Given the description of an element on the screen output the (x, y) to click on. 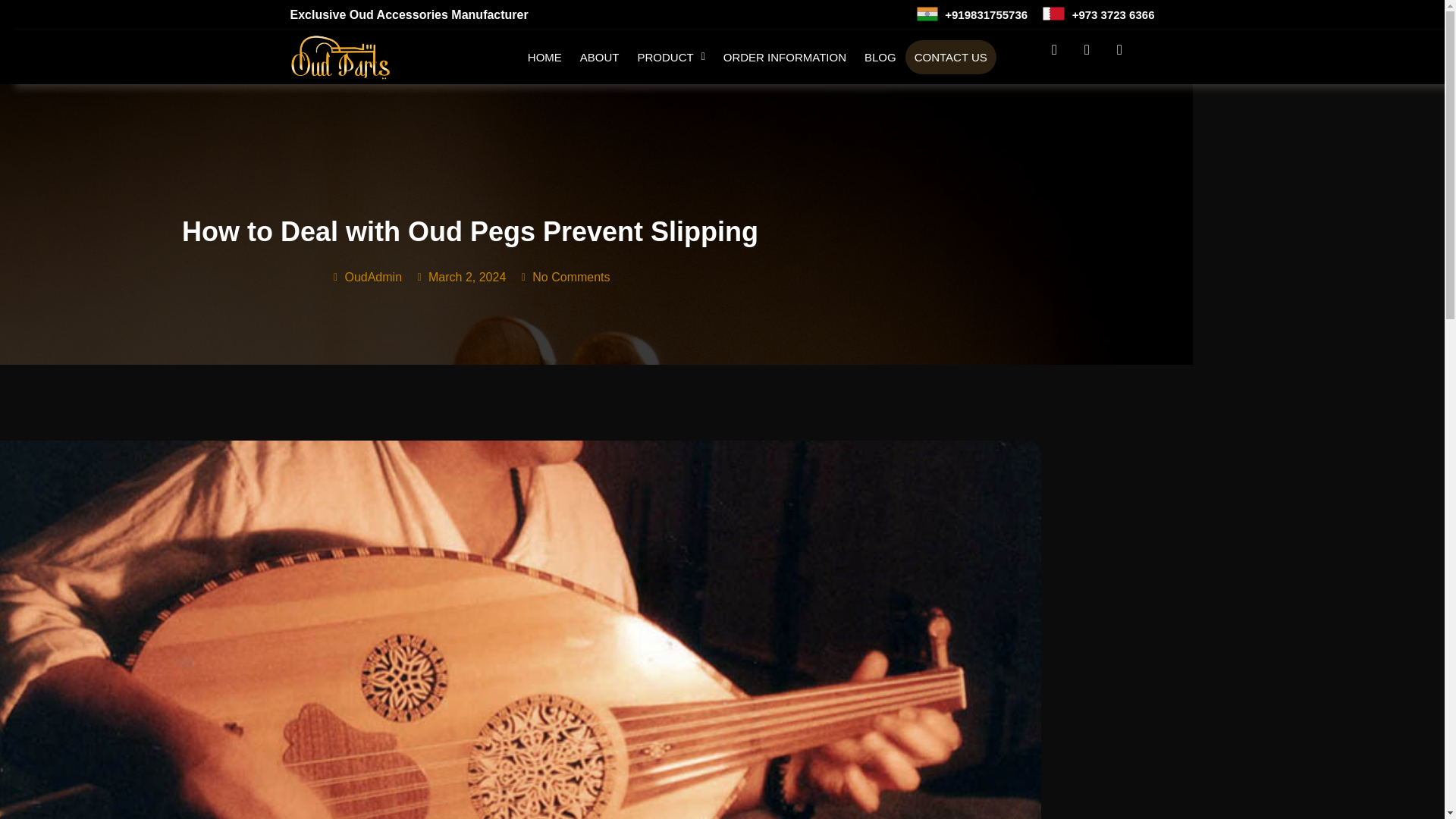
HOME (544, 57)
Facebook (1060, 56)
BLOG (880, 57)
OudAdmin (365, 277)
ORDER INFORMATION (785, 57)
Youtube (1126, 56)
CONTACT US (950, 57)
ABOUT (599, 57)
Instagram (1094, 56)
PRODUCT (670, 57)
March 2, 2024 (459, 277)
No Comments (564, 277)
oud-logo (341, 57)
